Given the description of an element on the screen output the (x, y) to click on. 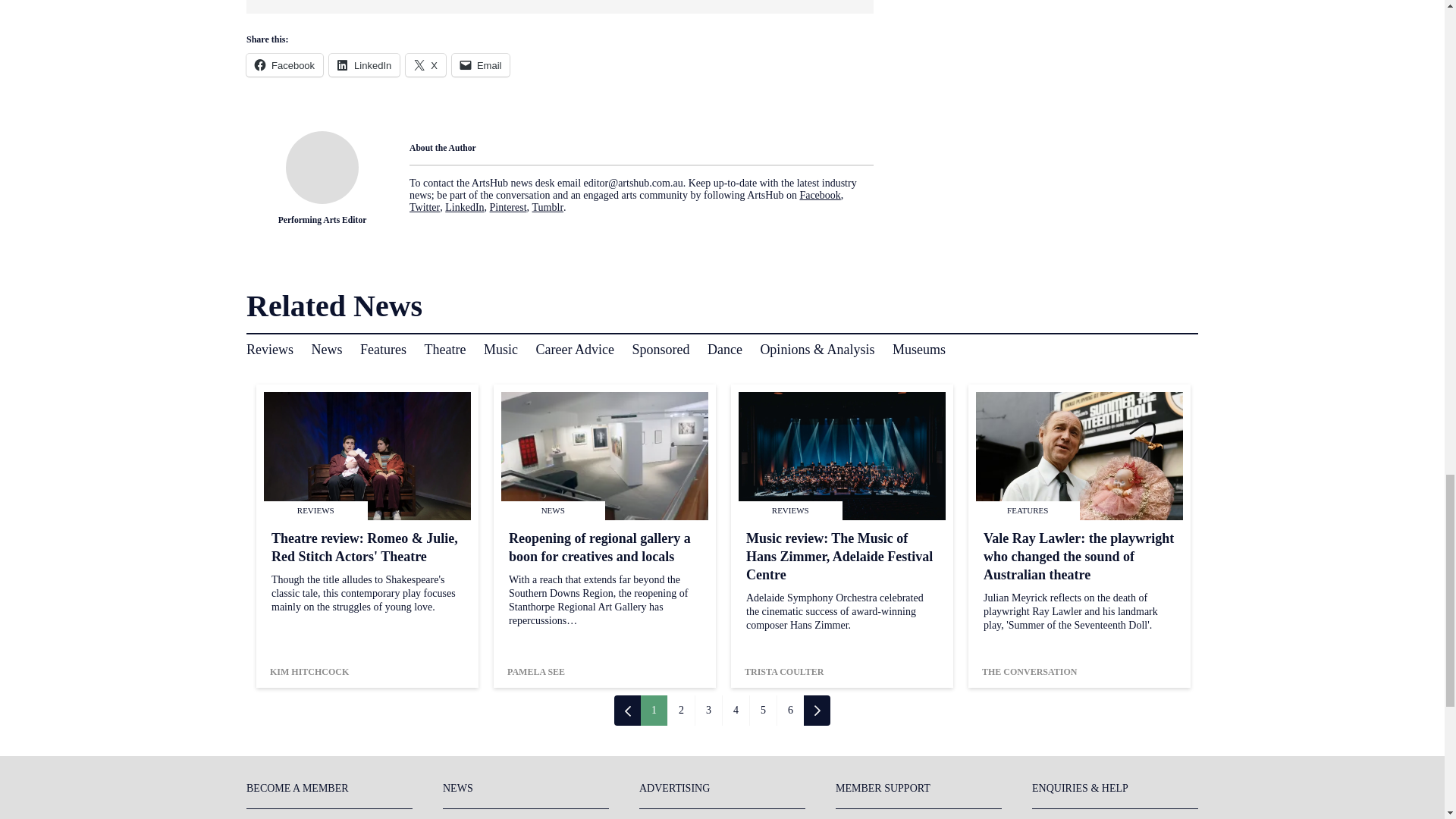
Click to share on X (425, 65)
Click to share on LinkedIn (363, 65)
Click to share on Facebook (284, 65)
Click to email a link to a friend (481, 65)
